Given the description of an element on the screen output the (x, y) to click on. 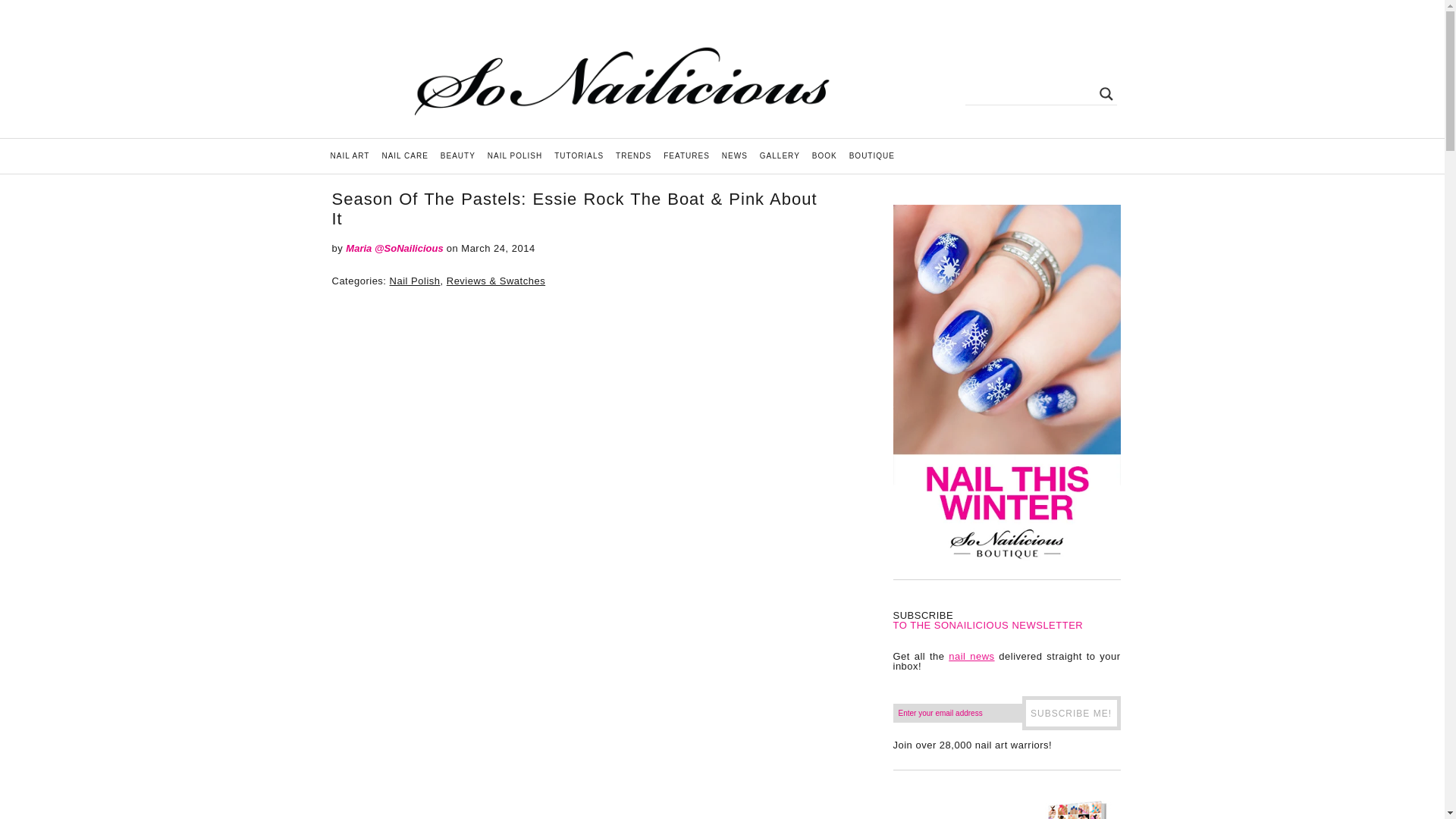
Beauty and Makeup Tips (457, 155)
Nail Art Gallery (780, 155)
News and Evens (735, 155)
Nail Trends (634, 155)
Nail Polish (415, 280)
BOUTIQUE (872, 155)
Nail Care (404, 155)
Subscribe Me! (1071, 713)
Reviews, Swatches, Top 5 (514, 155)
Nail Art Ideas (349, 155)
